Given the description of an element on the screen output the (x, y) to click on. 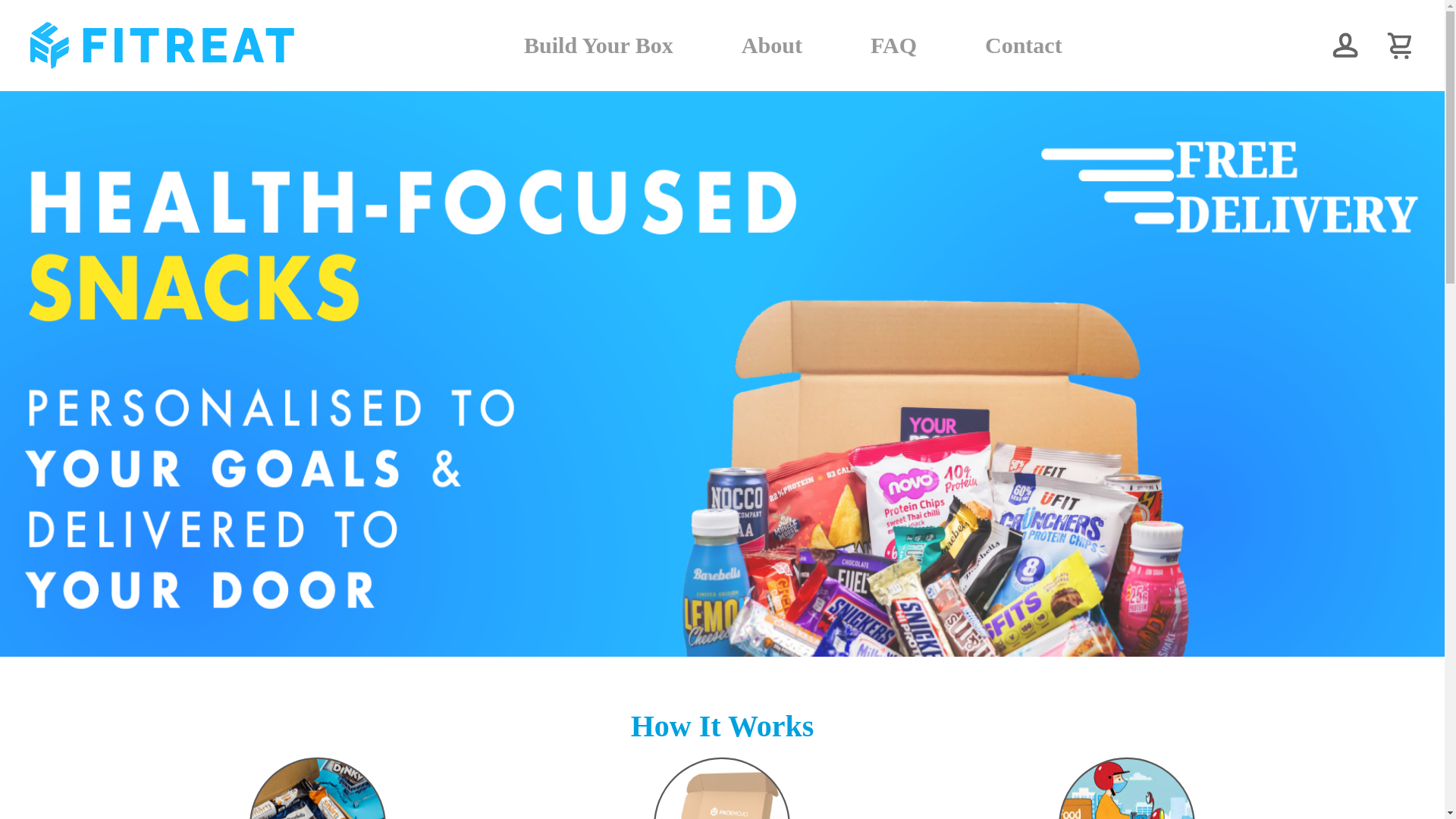
About (771, 45)
Contact (1023, 45)
Build Your Box (598, 45)
FAQ (893, 45)
